Given the description of an element on the screen output the (x, y) to click on. 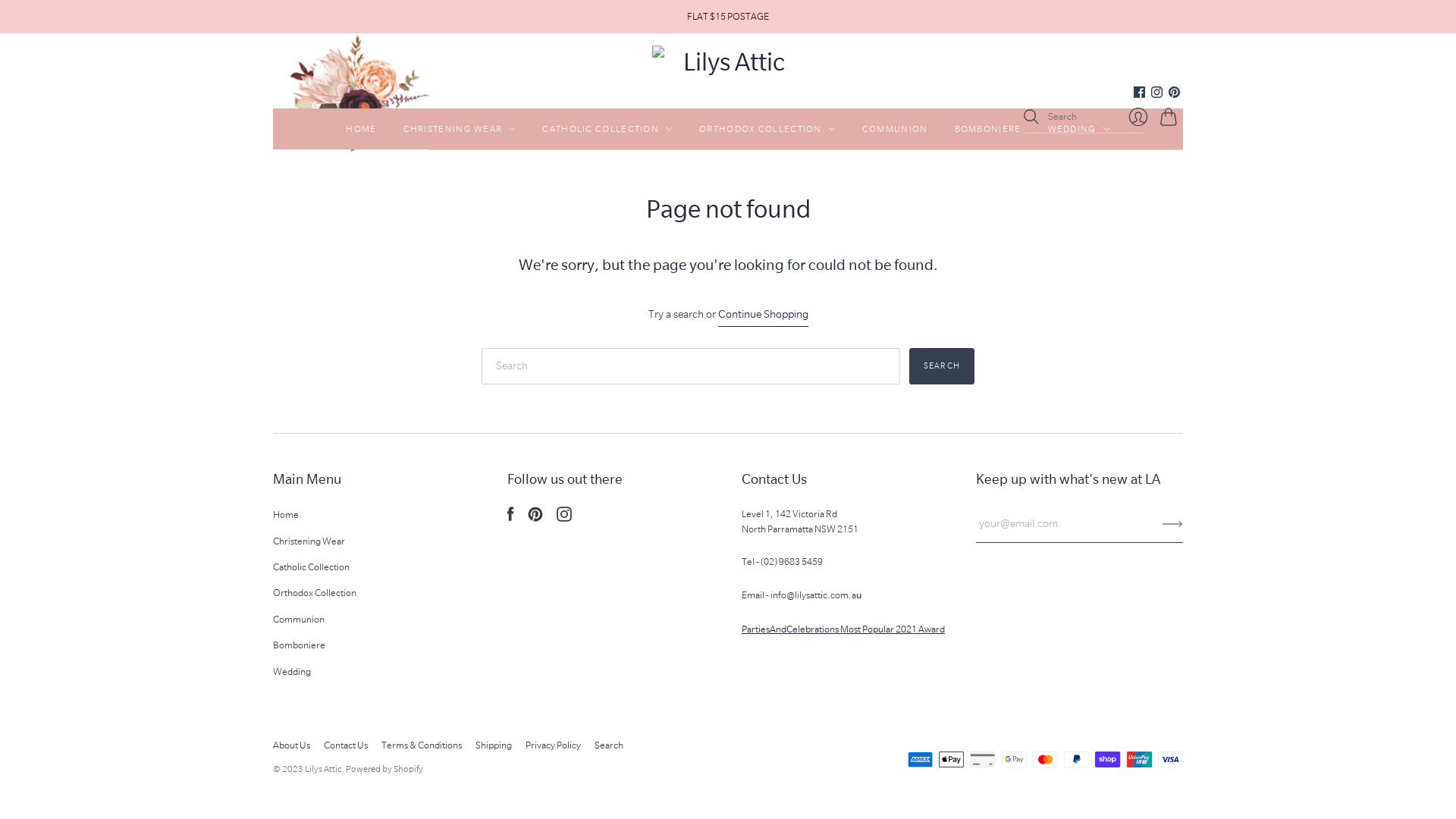
Wedding Element type: text (291, 671)
Cart Element type: text (1171, 116)
Terms & Conditions Element type: text (421, 744)
PartiesAndCelebrations Most Popular 2021 Award Element type: text (842, 628)
HOME Element type: text (360, 128)
COMMUNION Element type: text (895, 128)
Instagram Element type: hover (1156, 93)
Powered by Shopify Element type: text (384, 768)
Lilys Attic Element type: text (323, 768)
Home Element type: text (285, 514)
Communion Element type: text (298, 618)
About Us Element type: text (291, 744)
CATHOLIC COLLECTION Element type: text (607, 128)
Shipping Element type: text (493, 744)
Search Element type: text (608, 744)
WEDDING Element type: text (1079, 128)
Contact Us Element type: text (345, 744)
Login Element type: text (1138, 116)
Facebook Element type: hover (1139, 93)
Continue Shopping Element type: text (762, 314)
ORTHODOX COLLECTION Element type: text (767, 128)
Search Element type: text (941, 366)
Orthodox Collection Element type: text (314, 592)
CHRISTENING WEAR Element type: text (459, 128)
Pinterest Element type: hover (1173, 93)
Privacy Policy Element type: text (552, 744)
BOMBONIERE Element type: text (986, 128)
Christening Wear Element type: text (309, 540)
Bomboniere Element type: text (299, 644)
Catholic Collection Element type: text (311, 566)
